Given the description of an element on the screen output the (x, y) to click on. 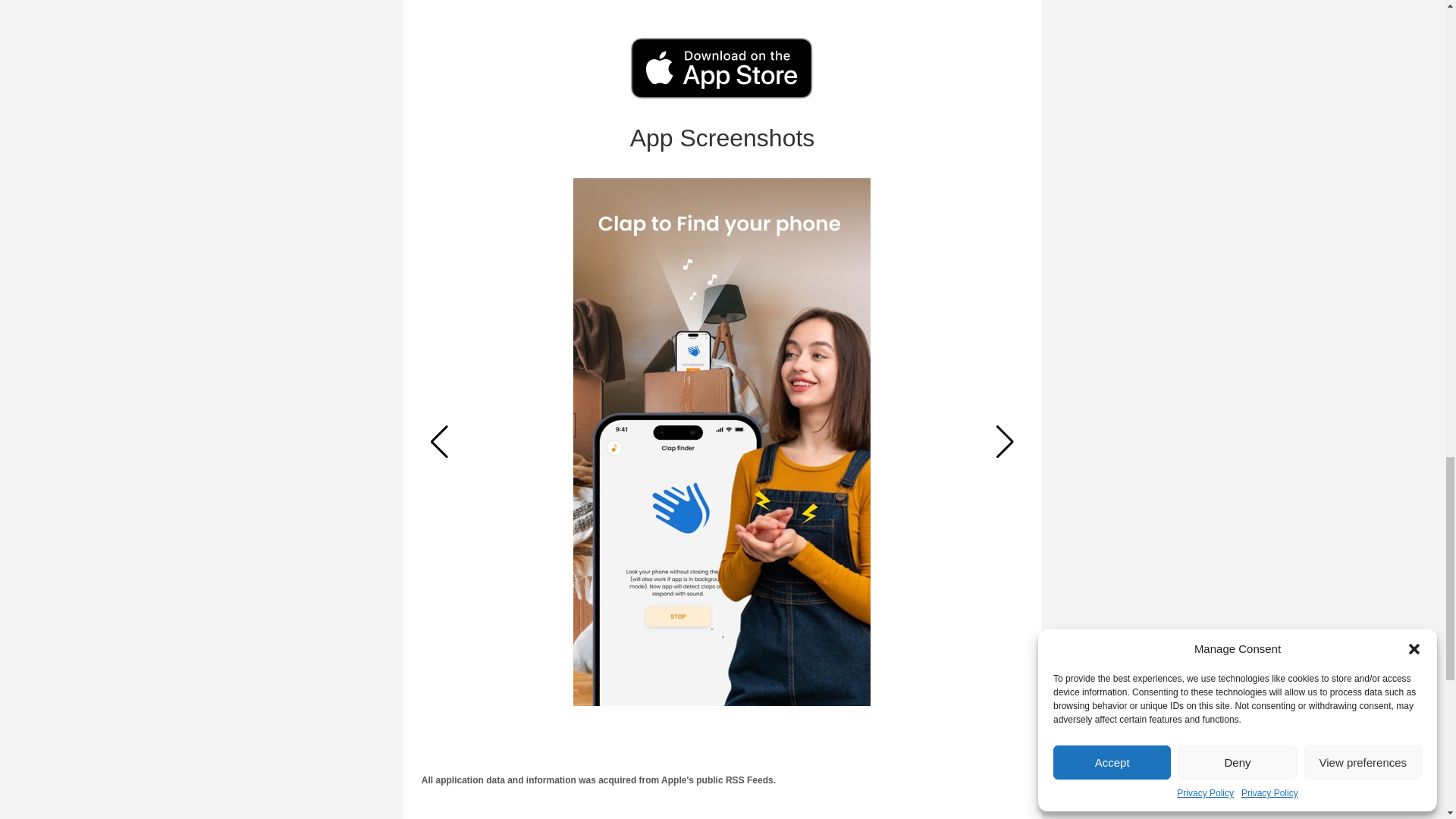
Scarica l'app ora (721, 67)
